Given the description of an element on the screen output the (x, y) to click on. 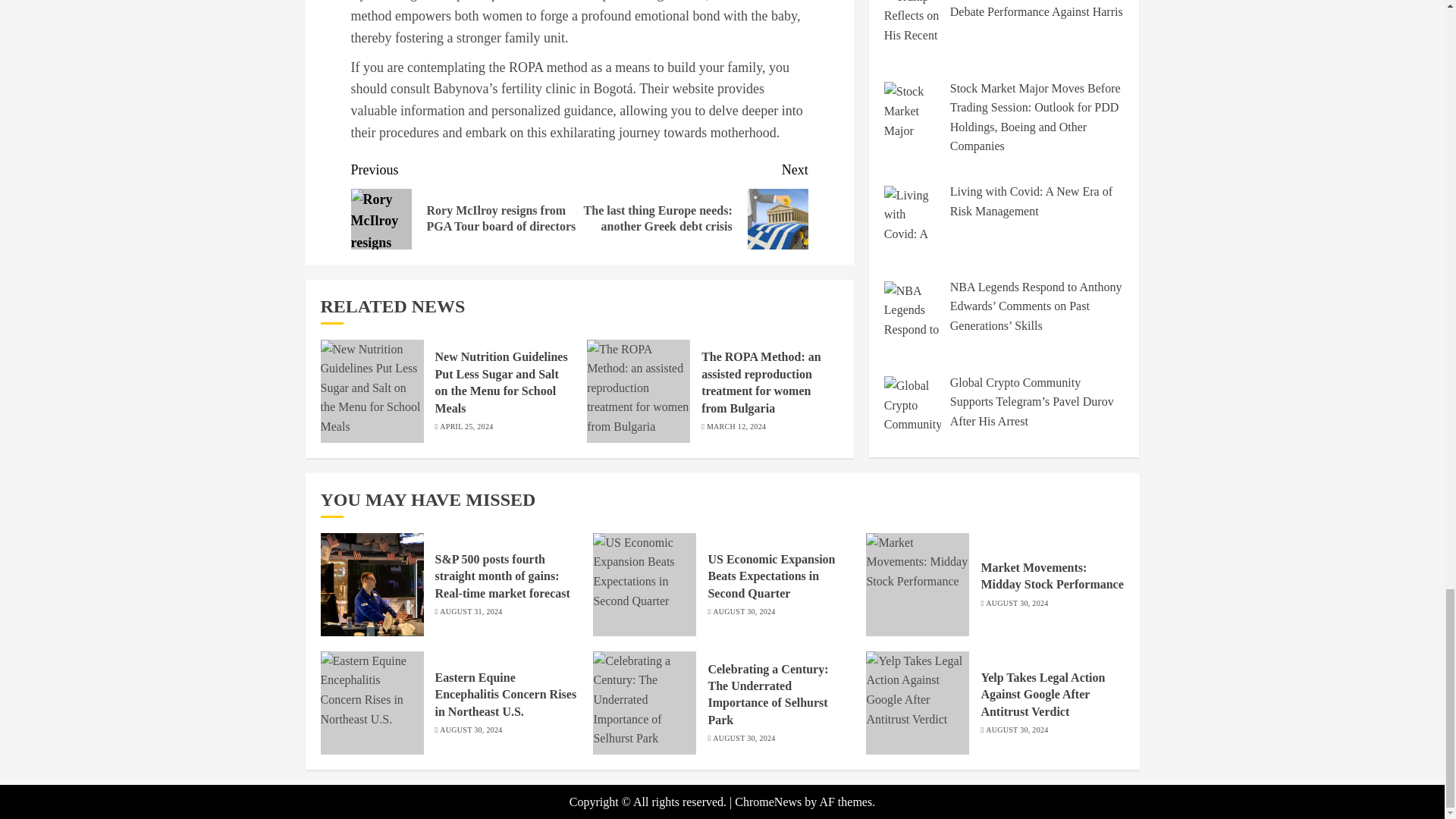
Rory McIlroy resigns from PGA Tour board of directors (380, 219)
MARCH 12, 2024 (735, 426)
APRIL 25, 2024 (466, 426)
The last thing Europe needs: another Greek debt crisis (778, 219)
